Given the description of an element on the screen output the (x, y) to click on. 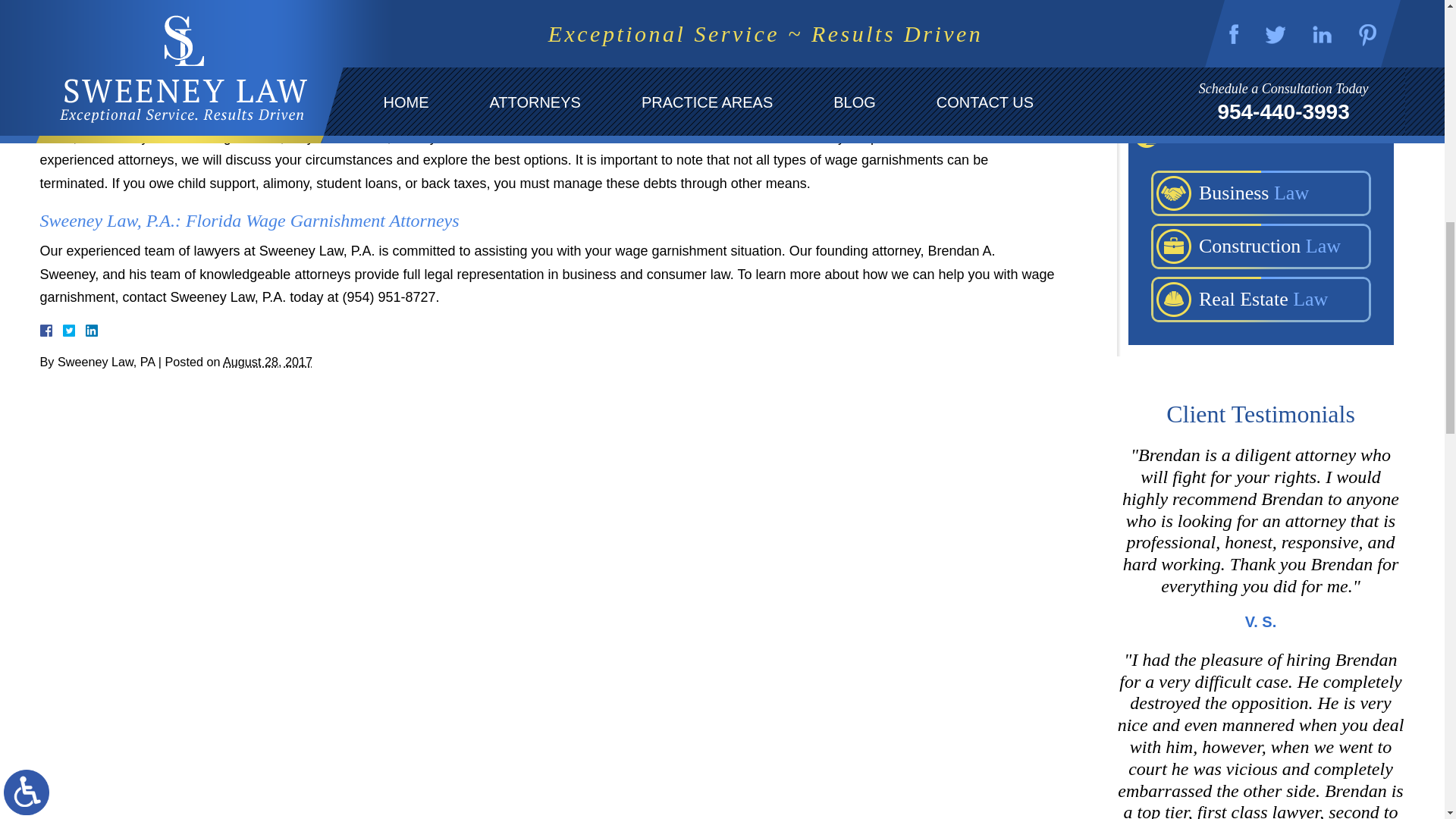
Facebook (63, 330)
LinkedIn (85, 330)
2017-08-28T14:50:16-0700 (267, 361)
Twitter (74, 330)
